Given the description of an element on the screen output the (x, y) to click on. 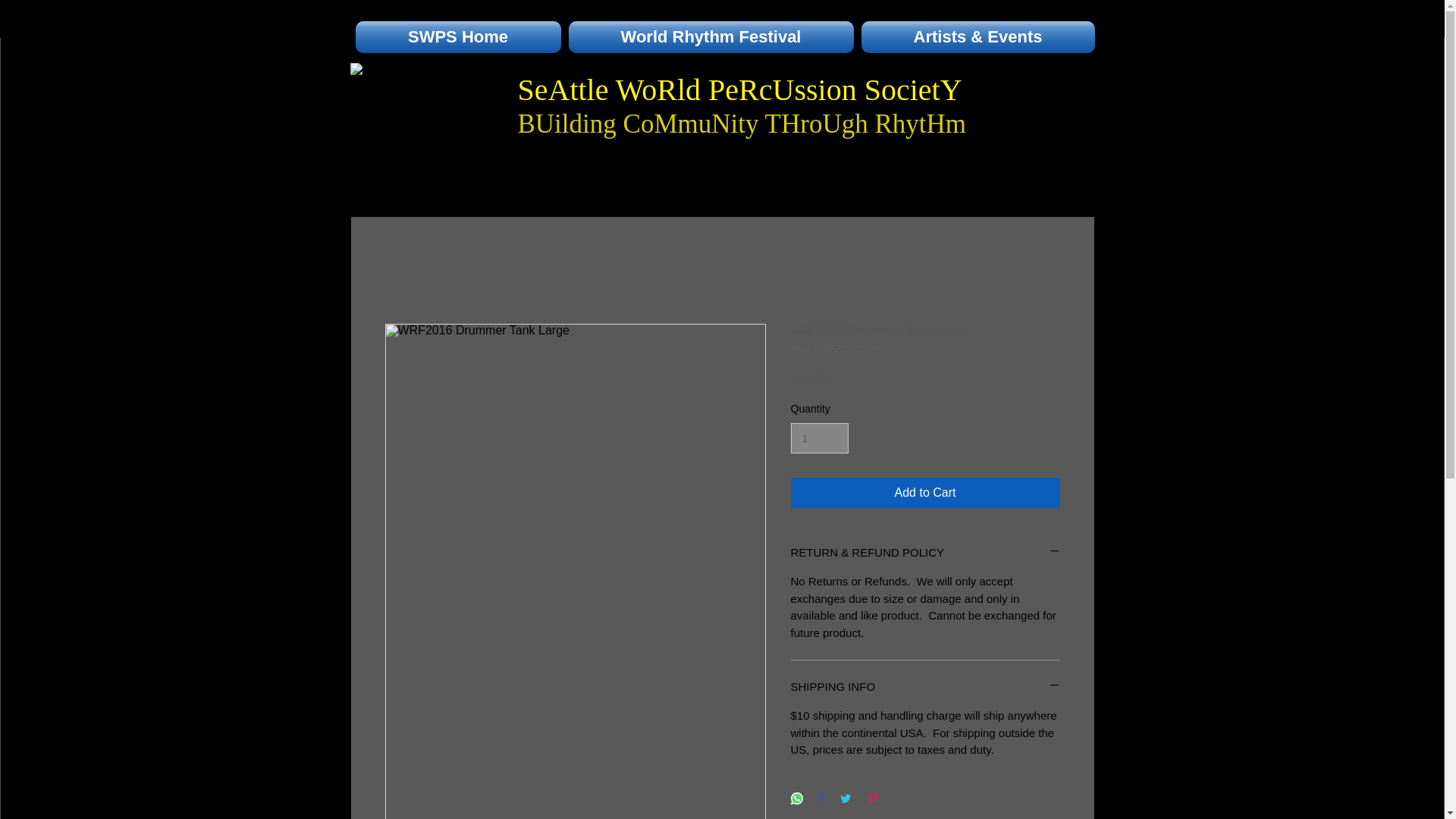
SHIPPING INFO (924, 686)
SWPS Home (459, 37)
Add to Cart (924, 492)
World Rhythm Festival (710, 37)
1 (818, 438)
